Given the description of an element on the screen output the (x, y) to click on. 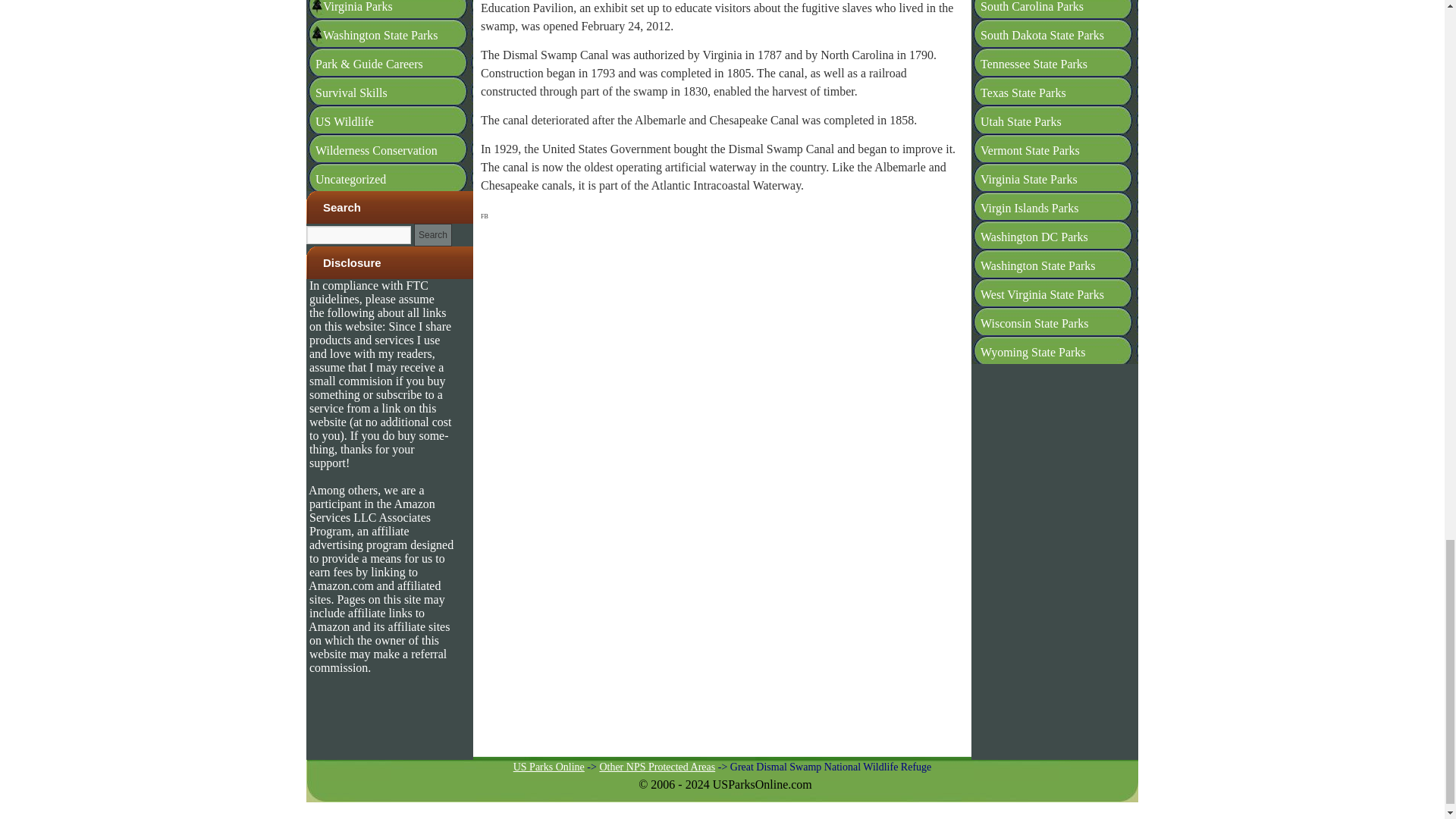
Search (432, 309)
